Given the description of an element on the screen output the (x, y) to click on. 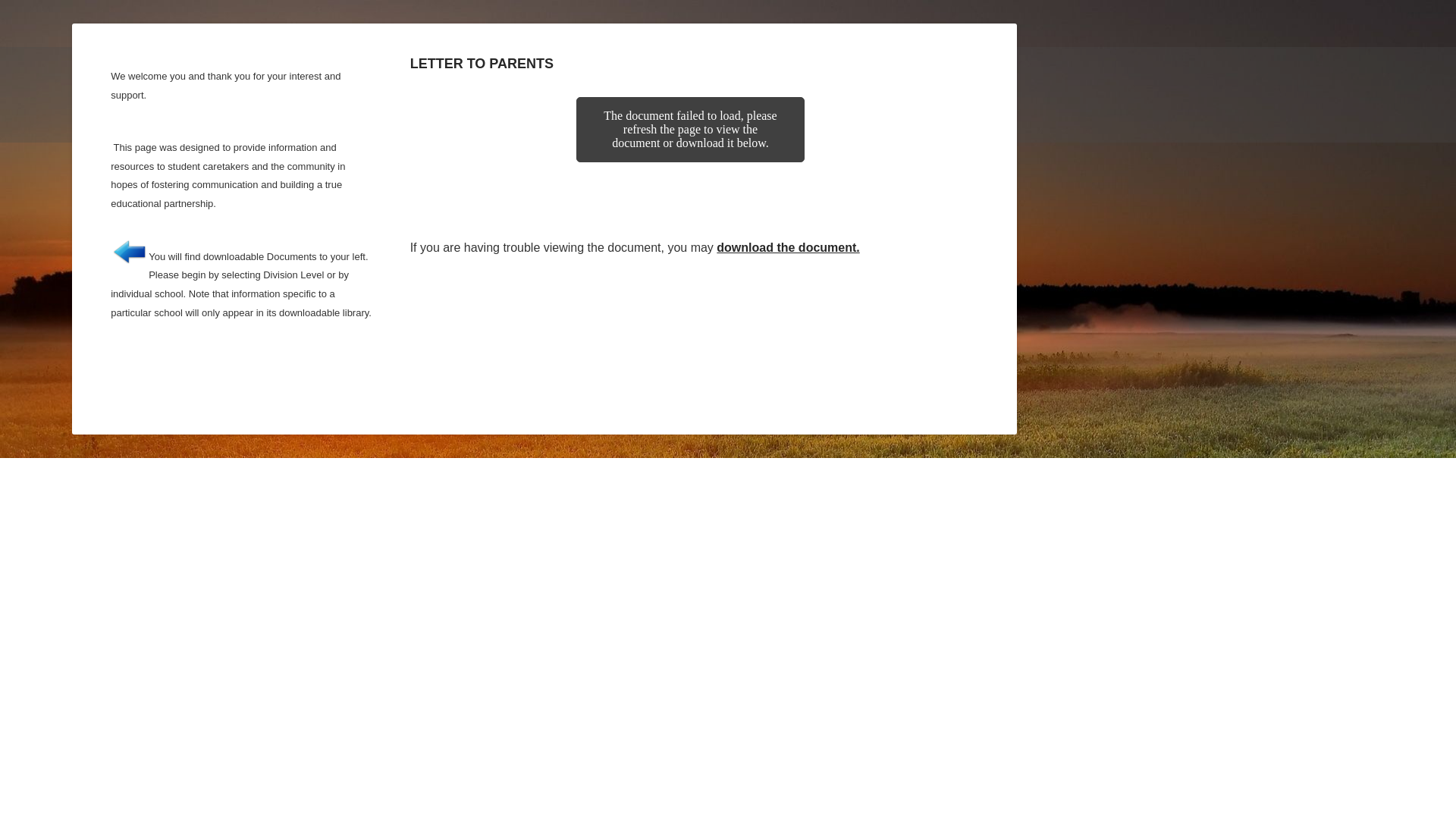
Blue arrow pointing left (129, 250)
Letter to Parents - Document Viewer (690, 160)
